Given the description of an element on the screen output the (x, y) to click on. 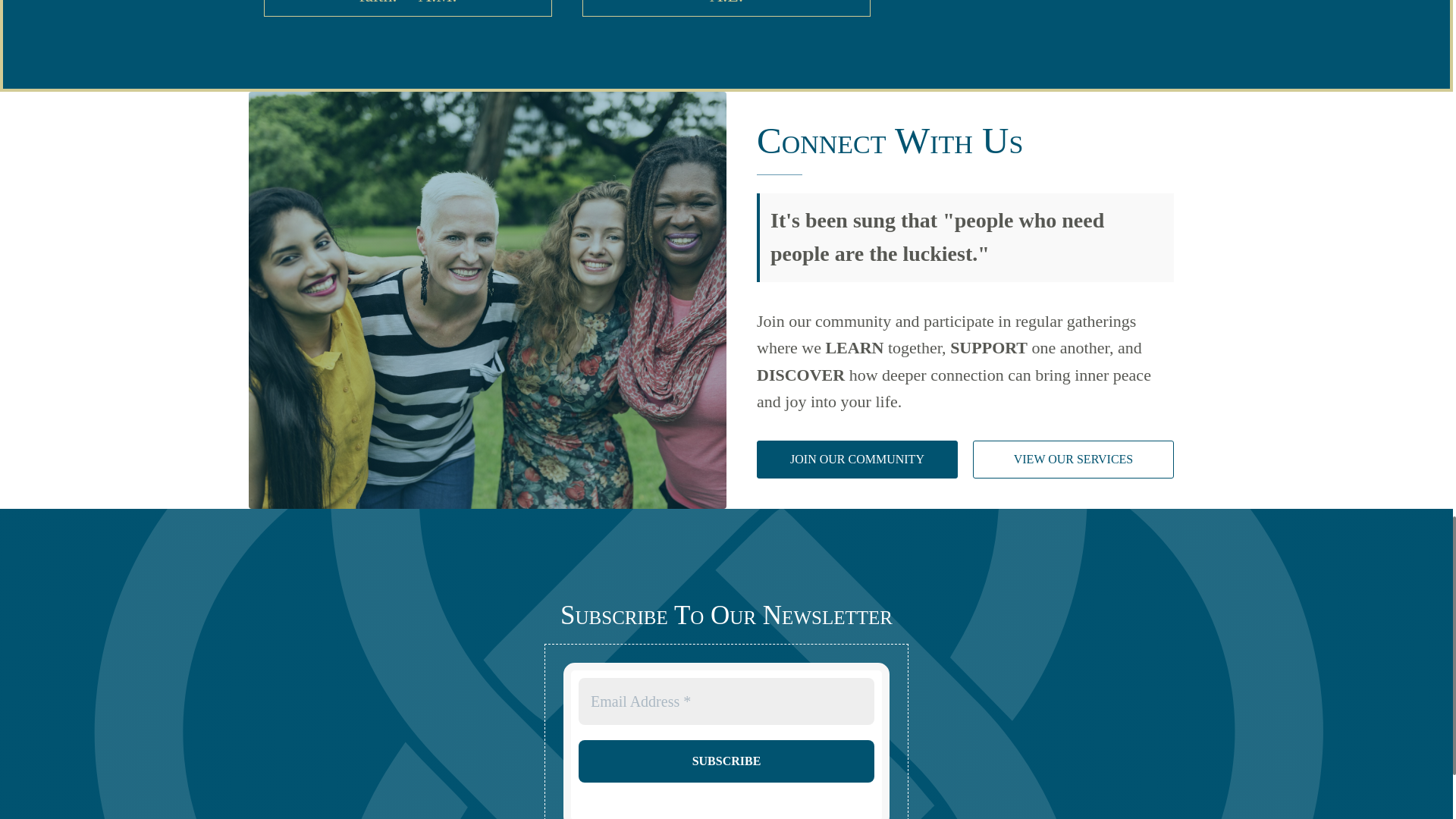
SUBSCRIBE (726, 761)
SUBSCRIBE (726, 761)
JOIN OUR COMMUNITY (857, 459)
Email Address (726, 701)
VIEW OUR SERVICES (1072, 459)
